Given the description of an element on the screen output the (x, y) to click on. 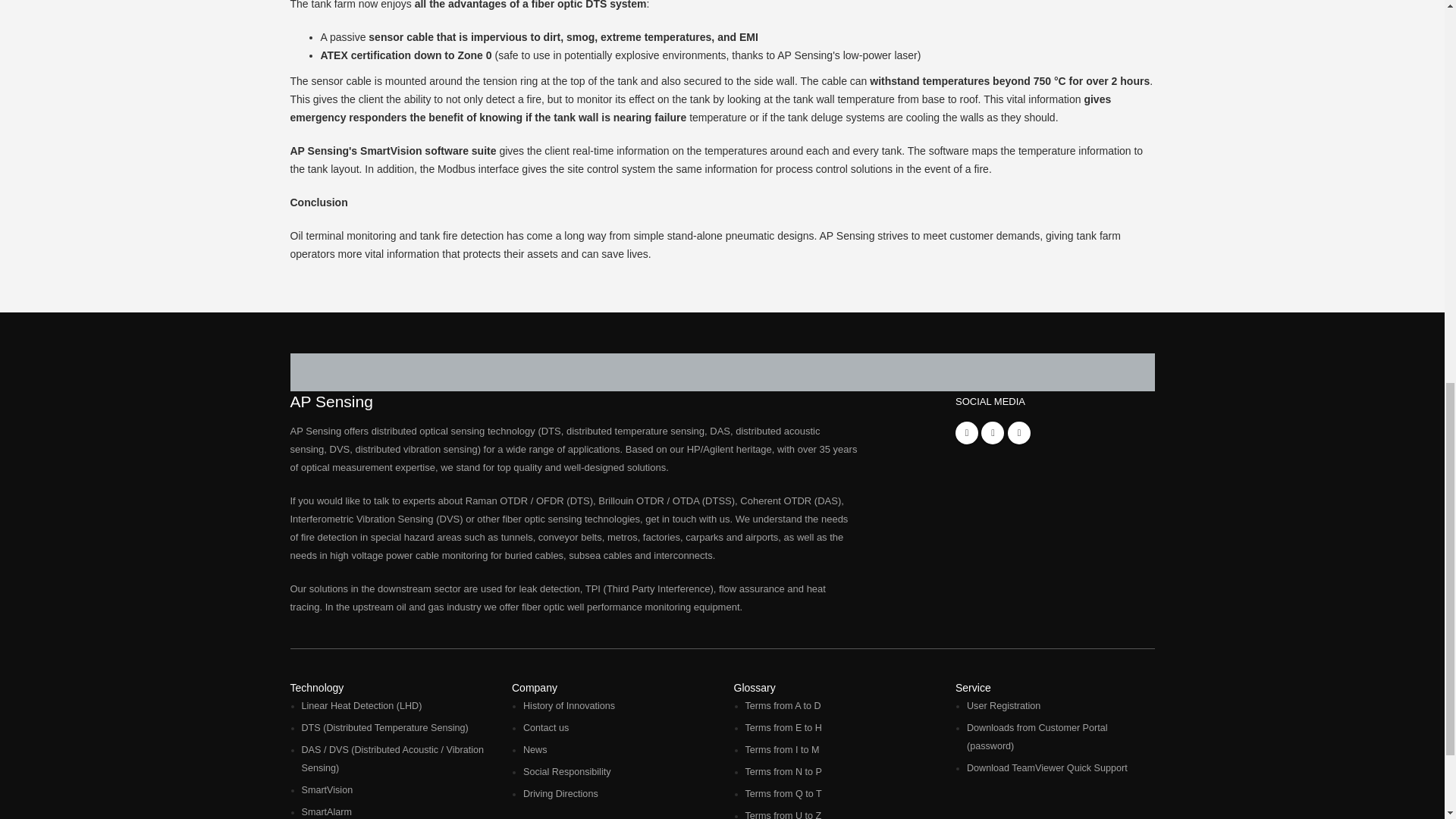
Facebook (966, 432)
Linked In (992, 432)
